Given the description of an element on the screen output the (x, y) to click on. 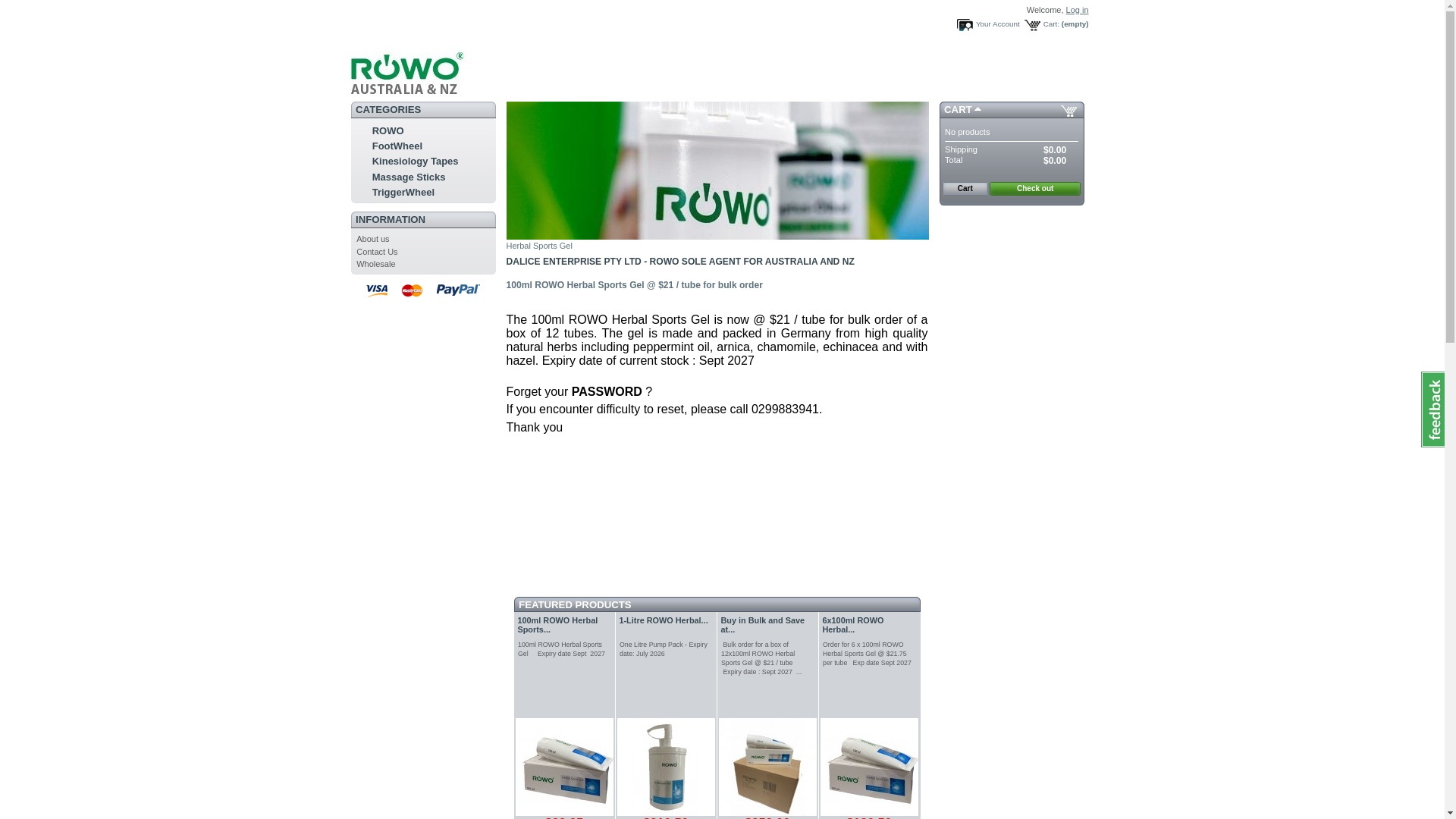
Cart: Element type: text (1041, 24)
ROWO Element type: text (388, 130)
FootWheel Element type: text (397, 145)
1-Litre ROWO Herbal Sports Gel   Element type: hover (666, 766)
Check out Element type: text (1034, 188)
Pay with PayPal Element type: hover (1011, 225)
Cart Element type: text (965, 188)
Contact Us Element type: text (376, 251)
 Buy in Bulk and Save at $21.00 per tube Element type: hover (767, 766)
1-Litre ROWO Herbal... Element type: text (662, 619)
Buy in Bulk and Save at... Element type: text (762, 624)
Massage Sticks Element type: text (408, 176)
CART Element type: text (958, 109)
100ml ROWO Herbal Sports Gel  Element type: hover (564, 766)
6x100ml ROWO Herbal... Element type: text (852, 624)
One Litre Pump Pack - Expiry date: July 2026           Element type: text (663, 648)
ROWO Herbal Sports Gel Sole Agent for Aust and NZ Element type: hover (441, 90)
6x100ml ROWO Herbal Sports Gel @ $21.75 per tube    Element type: hover (869, 766)
Your Account Element type: text (987, 24)
About us Element type: text (372, 238)
TriggerWheel Element type: text (403, 191)
Log in Element type: text (1077, 9)
Wholesale Element type: text (375, 263)
Kinesiology Tapes Element type: text (415, 160)
100ml ROWO Herbal Sports... Element type: text (557, 624)
